Given the description of an element on the screen output the (x, y) to click on. 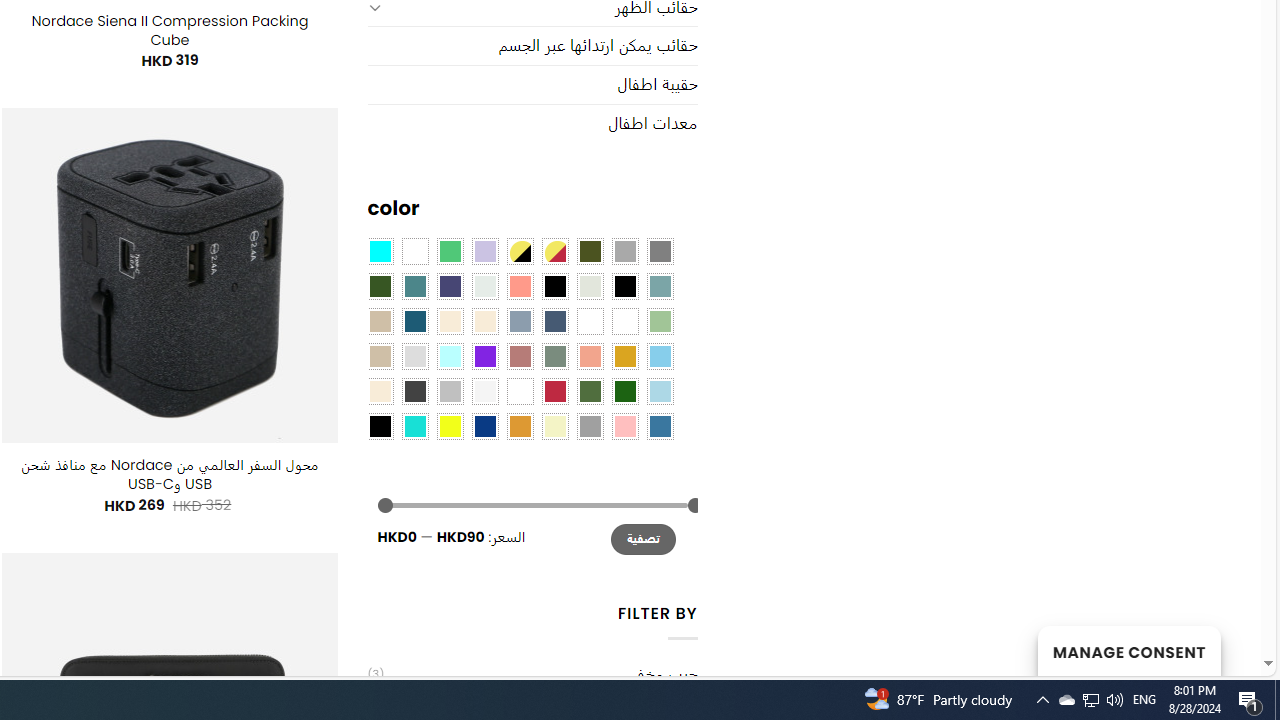
Ash Gray (589, 285)
Nordace Siena II Compression Packing Cube (169, 29)
Capri Blue (414, 321)
Sage (554, 355)
